Given the description of an element on the screen output the (x, y) to click on. 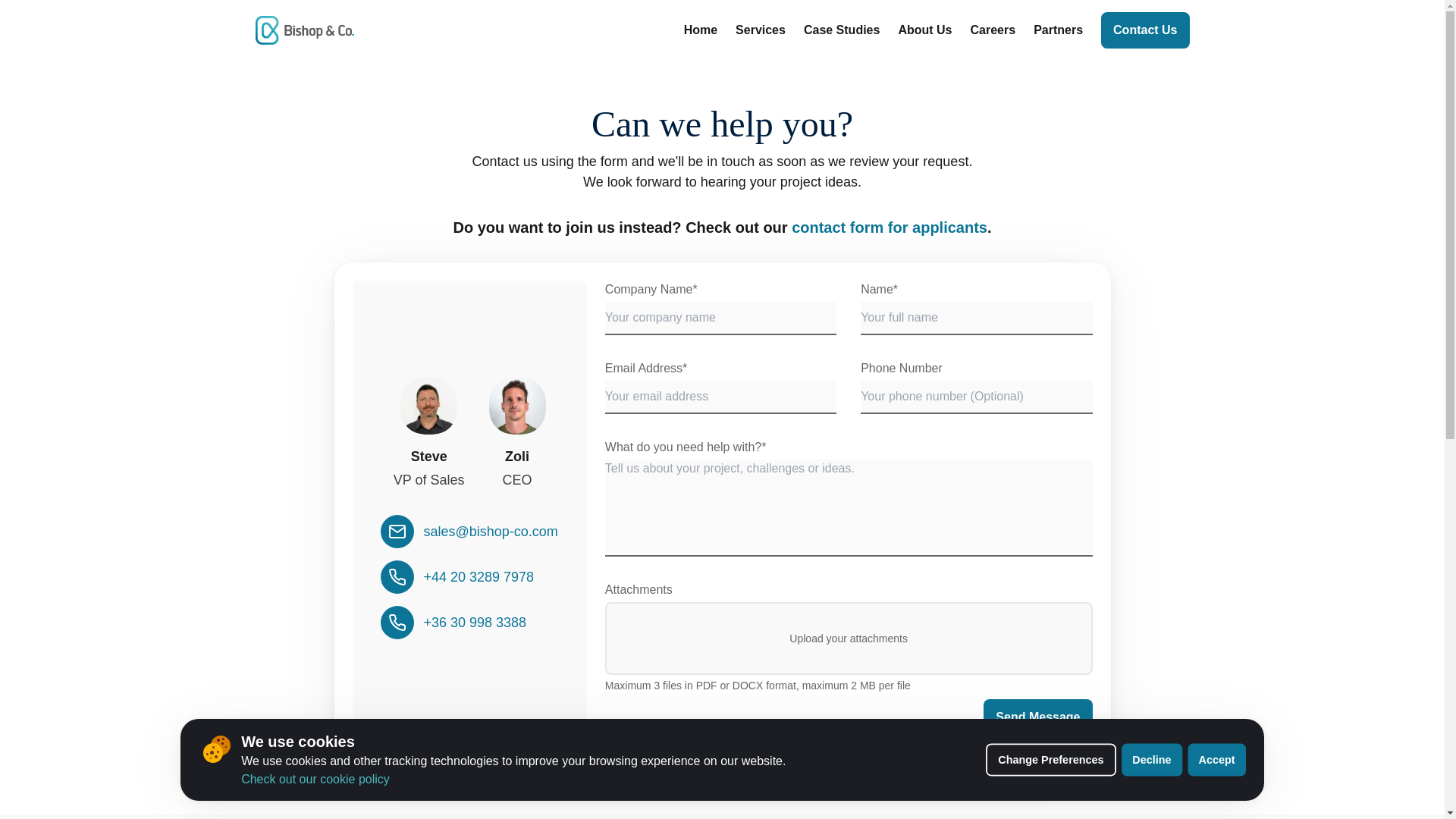
Accept (1220, 760)
Contact Us (1144, 30)
Case Studies (841, 29)
Services (760, 29)
Home (700, 29)
Decline (1155, 760)
contact form for applicants (889, 227)
Send Message (1038, 717)
Careers (993, 29)
Change Preferences (1058, 760)
